Given the description of an element on the screen output the (x, y) to click on. 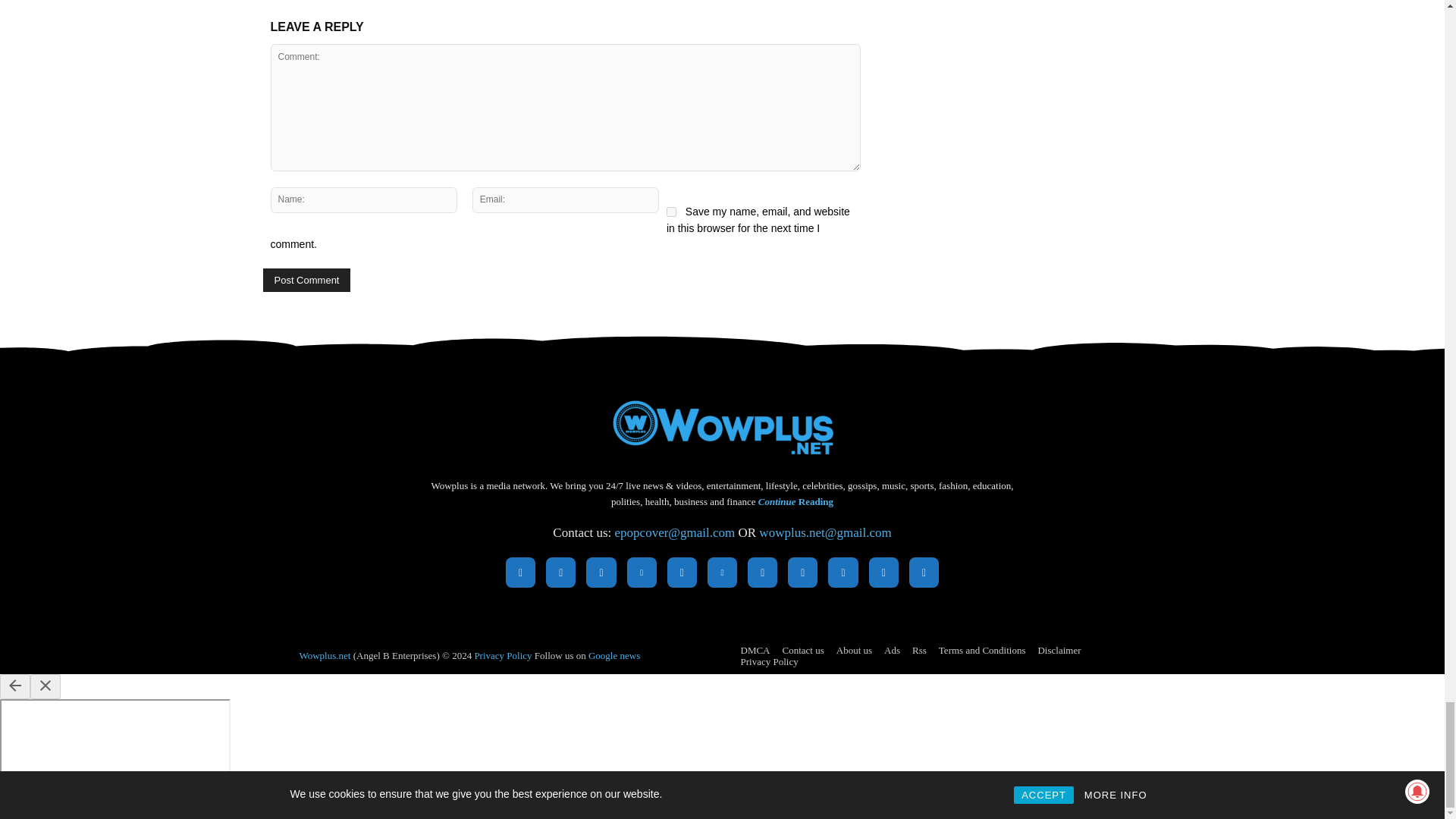
Post Comment (306, 279)
yes (671, 212)
